Given the description of an element on the screen output the (x, y) to click on. 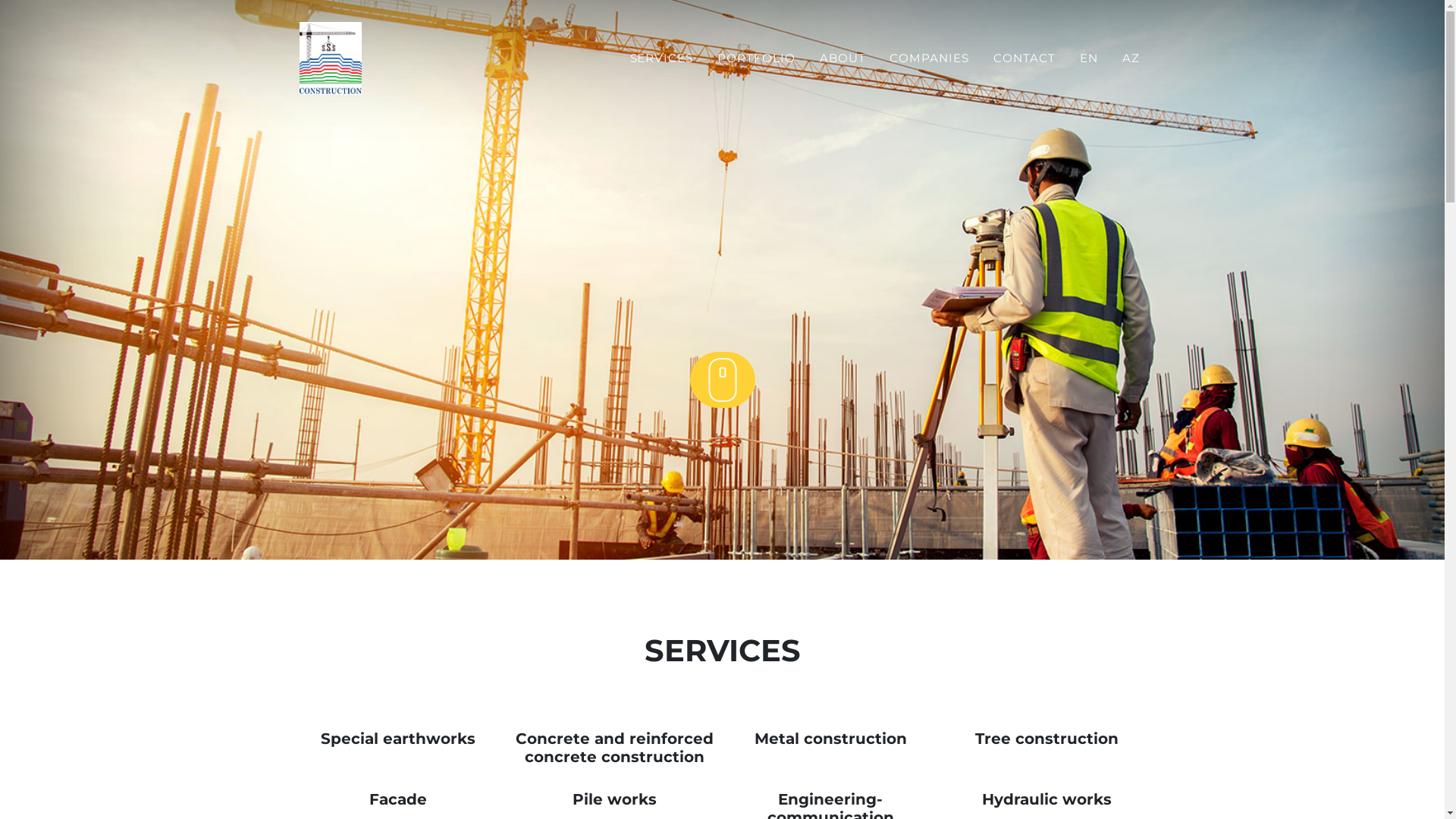
PORTFOLIO Element type: text (756, 58)
AZ Element type: text (1130, 58)
EN Element type: text (1088, 58)
SERVICES Element type: text (661, 58)
COMPANIES Element type: text (929, 58)
CONTACT Element type: text (1024, 58)
ABOUT Element type: text (842, 58)
